Given the description of an element on the screen output the (x, y) to click on. 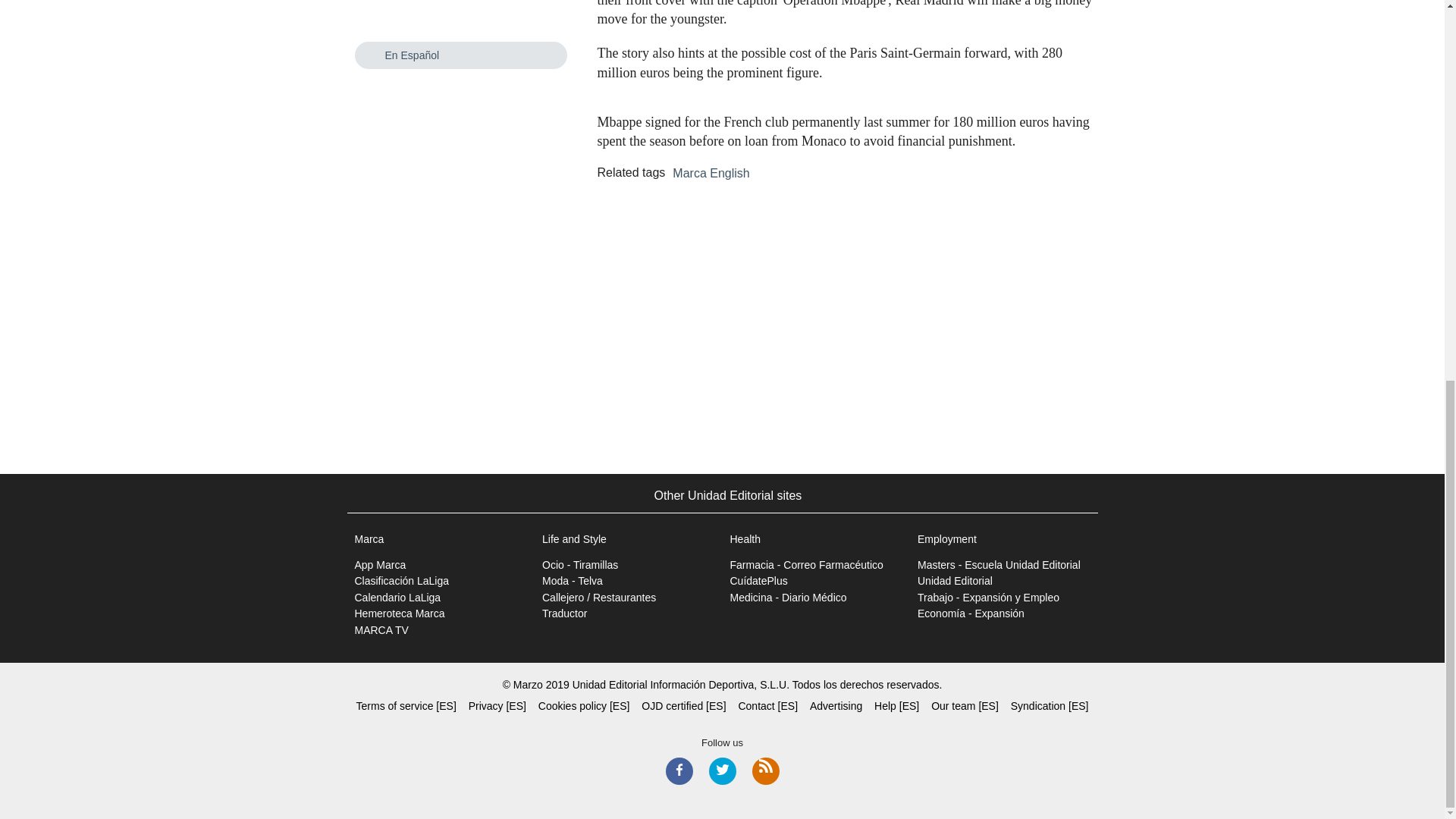
Masters - Escuela Unidad Editorial (998, 564)
Moda - Telva (571, 580)
RSS (765, 770)
Unidad Editorial (954, 580)
Ocio - Tiramillas (579, 564)
Twitter (721, 770)
Facebook (679, 770)
Calendario LaLiga (398, 597)
Marca English (710, 173)
Hemeroteca Marca (400, 613)
